Given the description of an element on the screen output the (x, y) to click on. 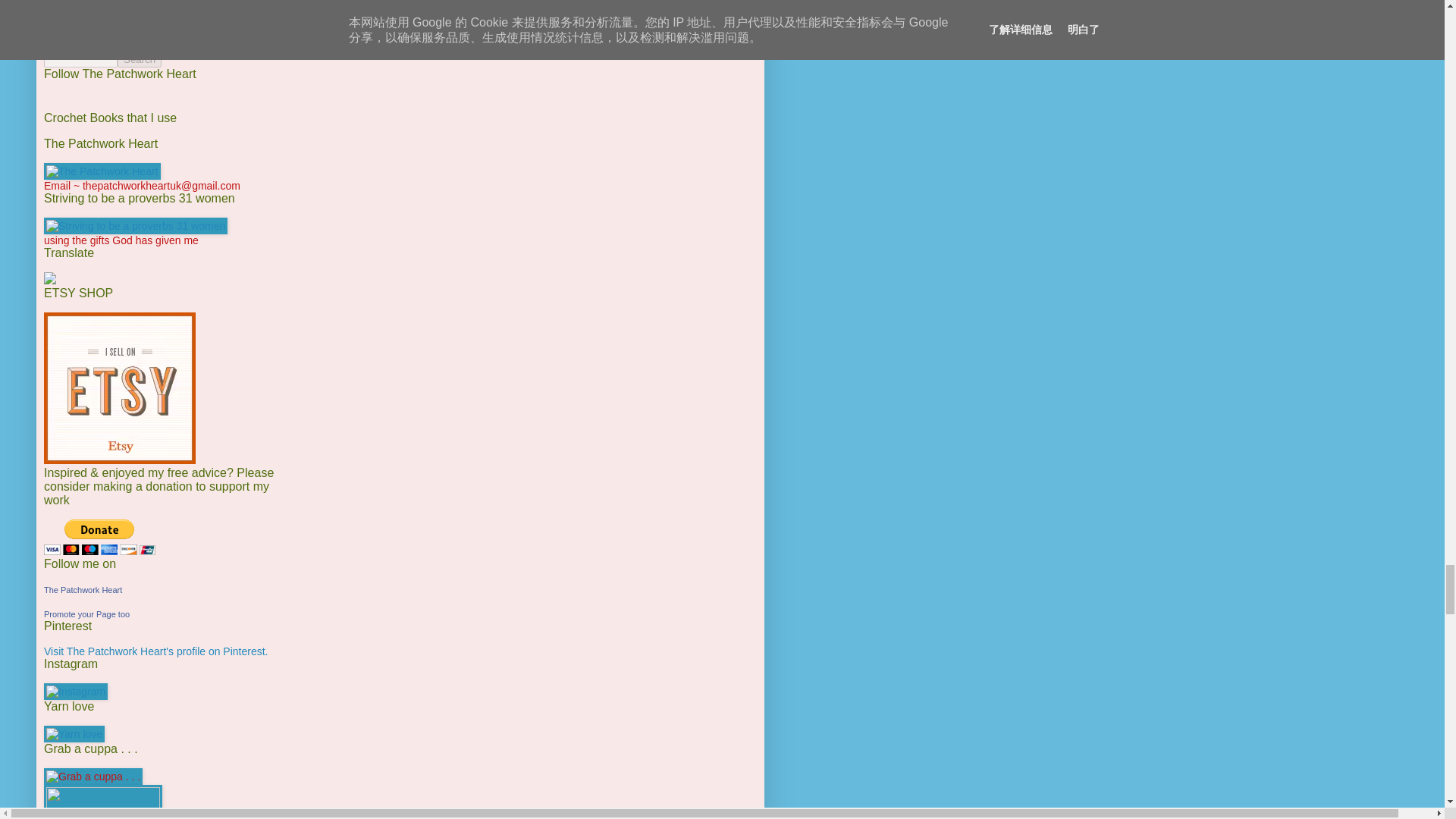
search (80, 59)
search (139, 59)
Search (139, 59)
Search (139, 59)
The Patchwork Heart (82, 589)
